Given the description of an element on the screen output the (x, y) to click on. 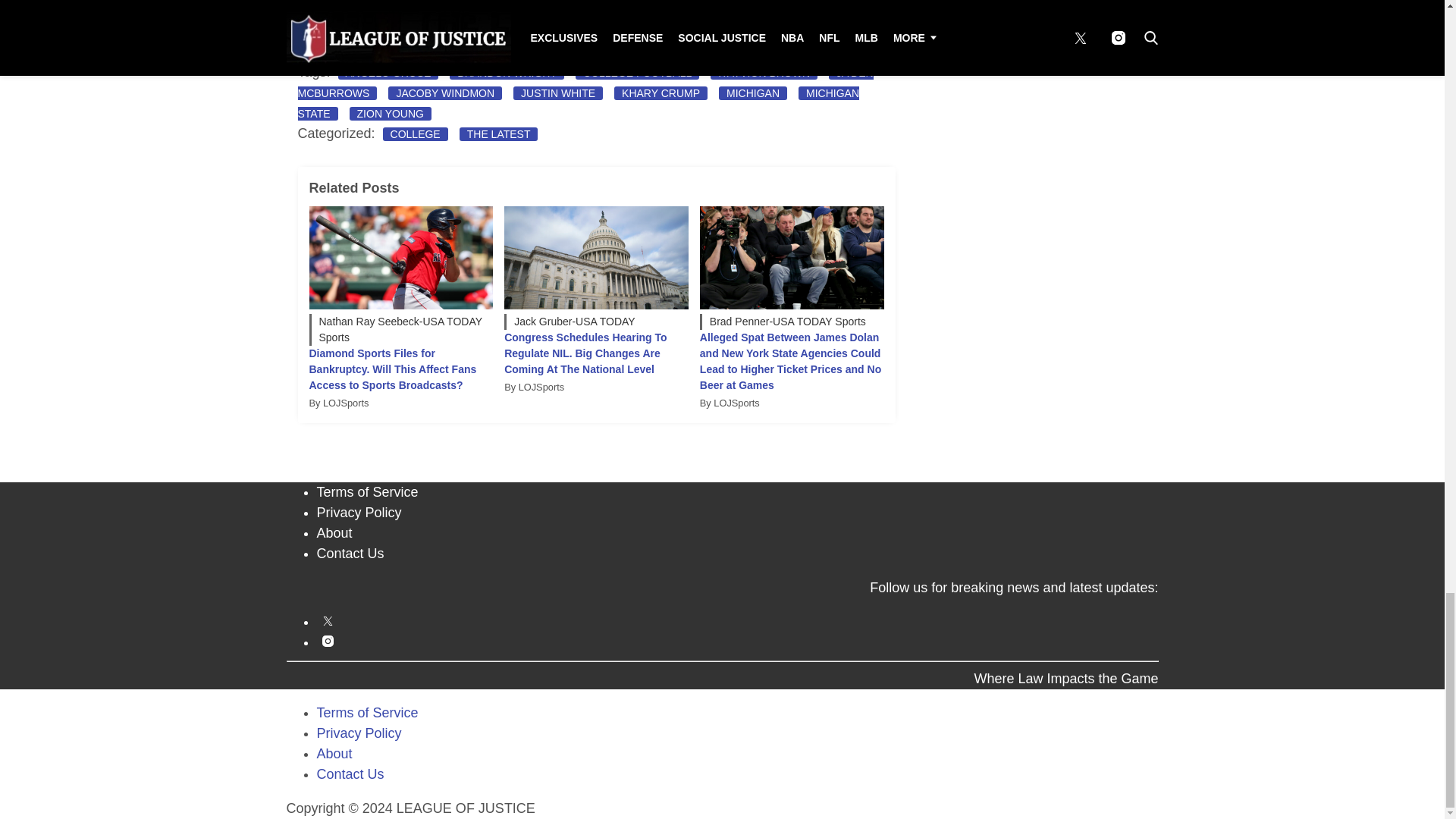
Follow us on Twitter (737, 620)
Follow us on Instagram (737, 641)
